Given the description of an element on the screen output the (x, y) to click on. 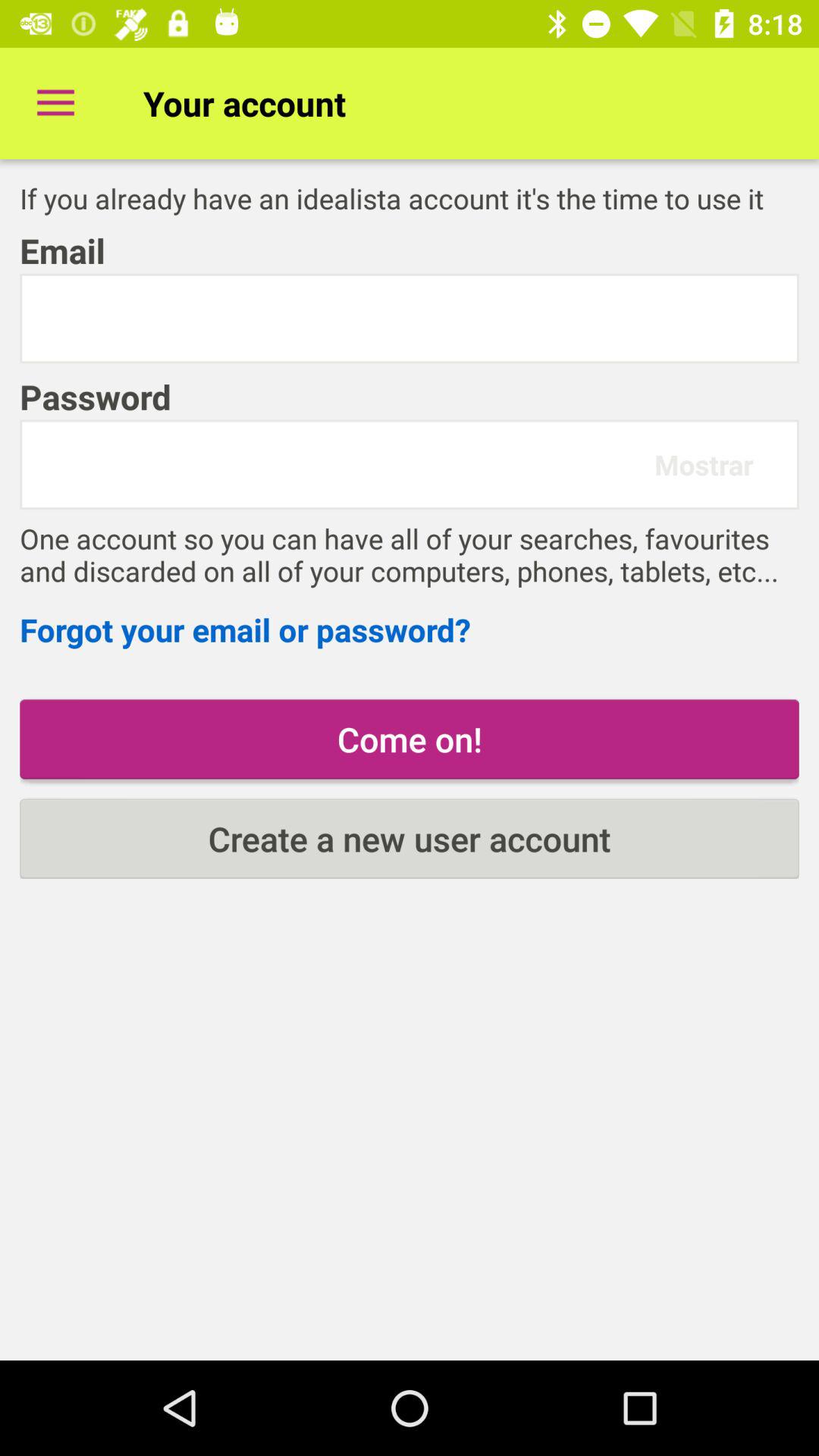
turn off icon above the if you already icon (55, 103)
